Given the description of an element on the screen output the (x, y) to click on. 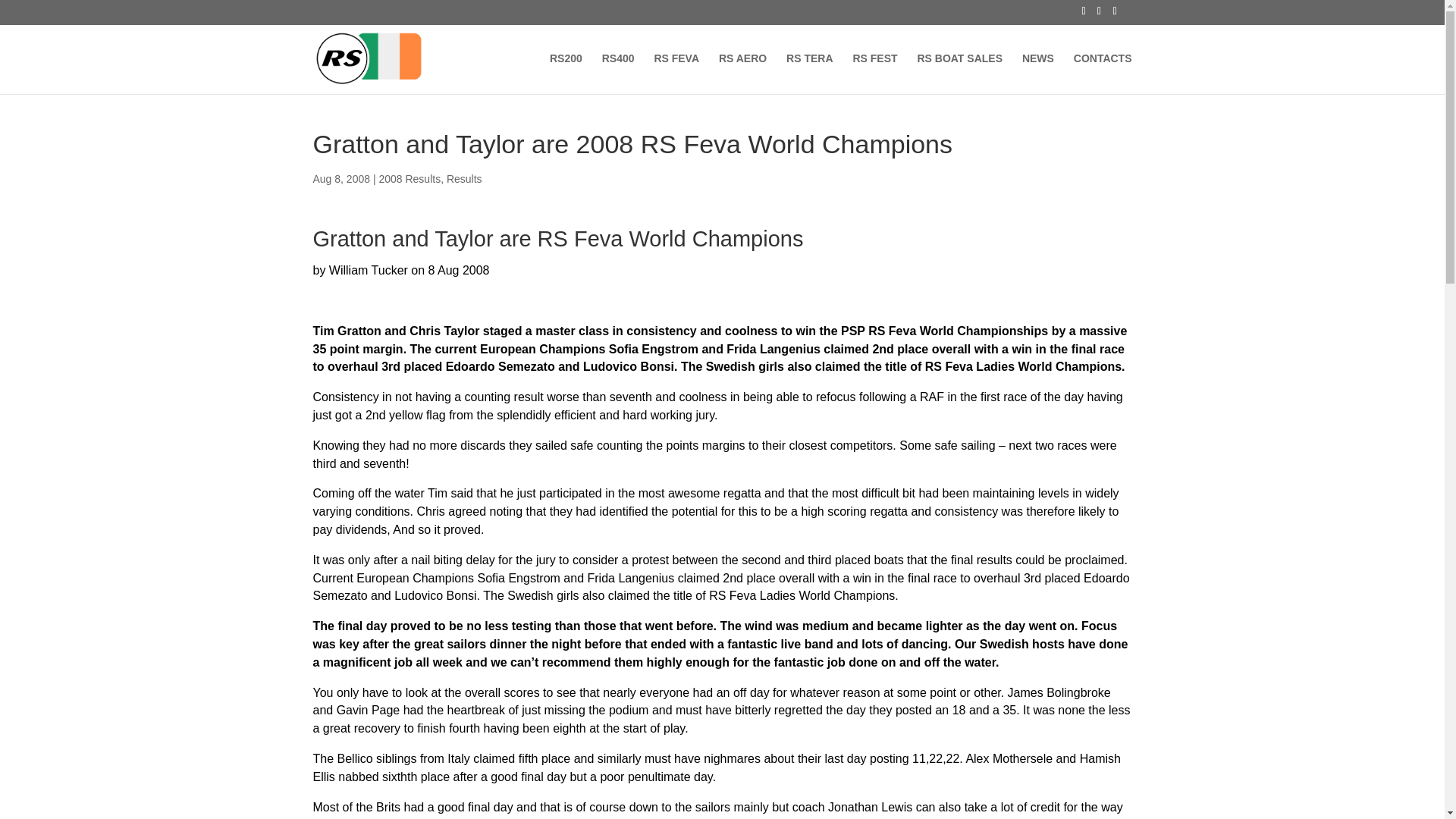
RS AERO (743, 73)
RS FEVA (675, 73)
RS FEST (873, 73)
RS TERA (809, 73)
CONTACTS (1103, 73)
RS BOAT SALES (960, 73)
2008 Results (409, 178)
Results (463, 178)
